Given the description of an element on the screen output the (x, y) to click on. 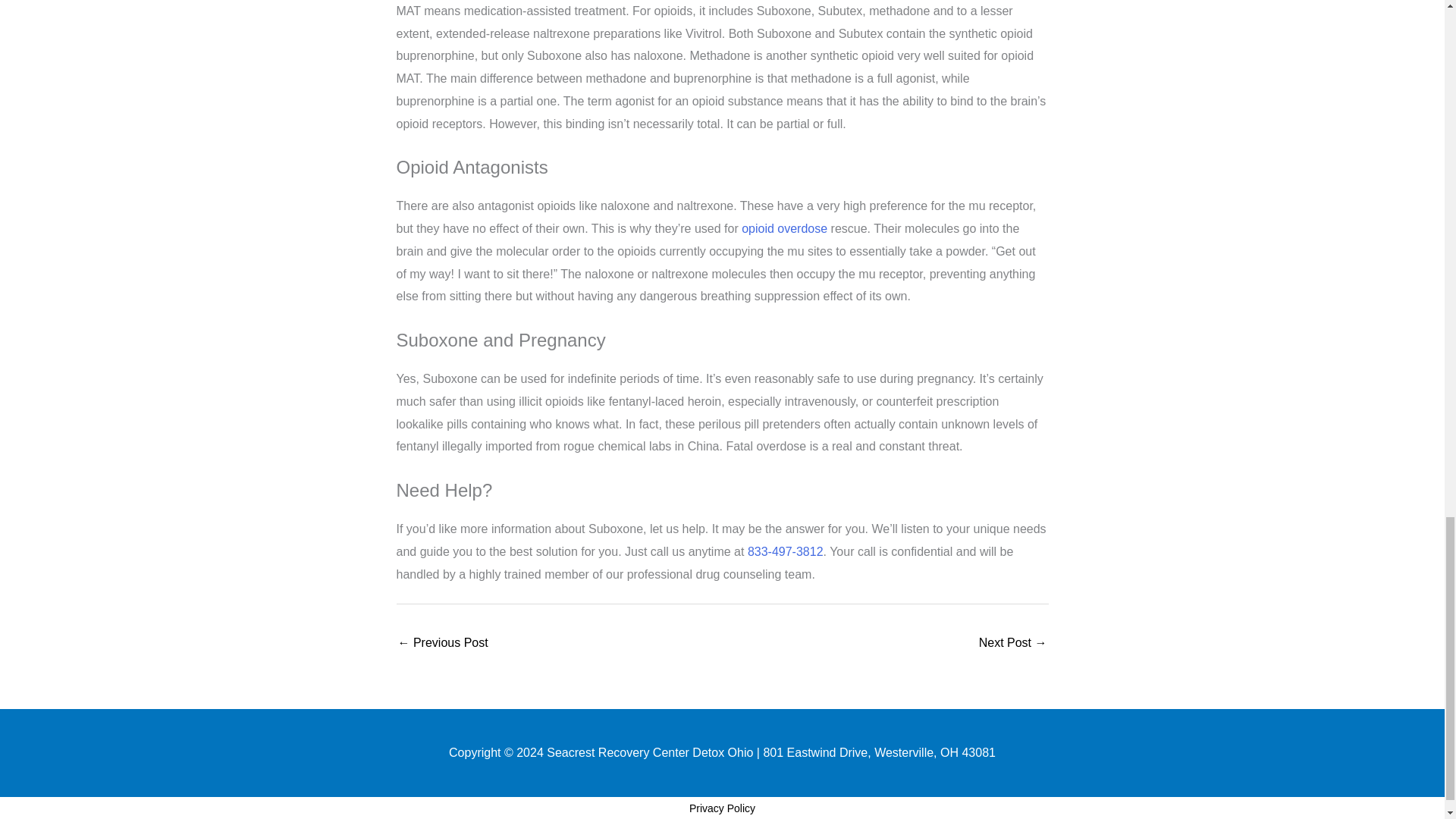
opioid overdose (784, 228)
Can Stimulant Withdrawal Symptoms Be Dangerous? (442, 643)
Privacy Policy (721, 808)
833-497-3812 (786, 551)
